Given the description of an element on the screen output the (x, y) to click on. 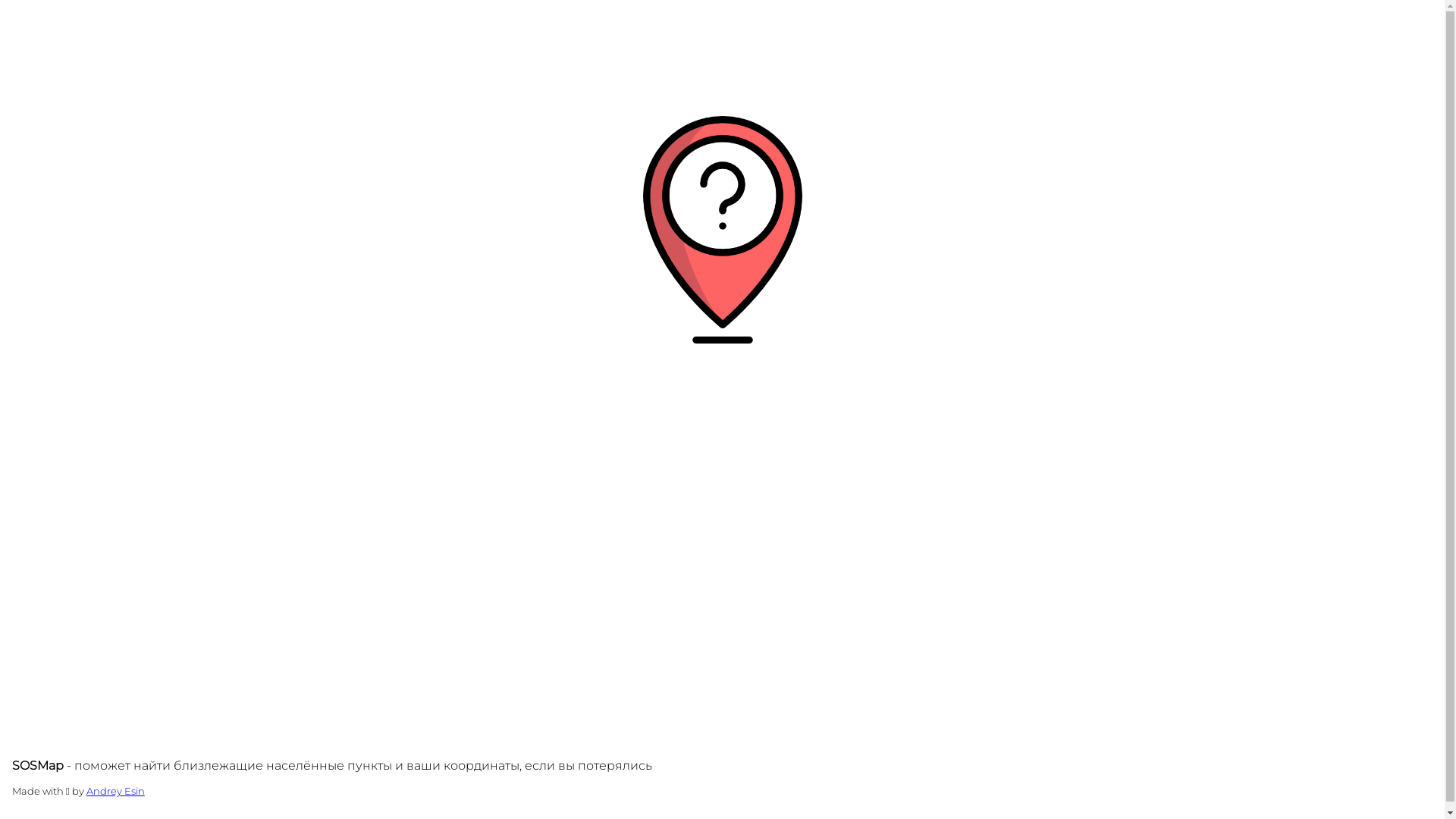
Andrey Esin Element type: text (115, 790)
